Given the description of an element on the screen output the (x, y) to click on. 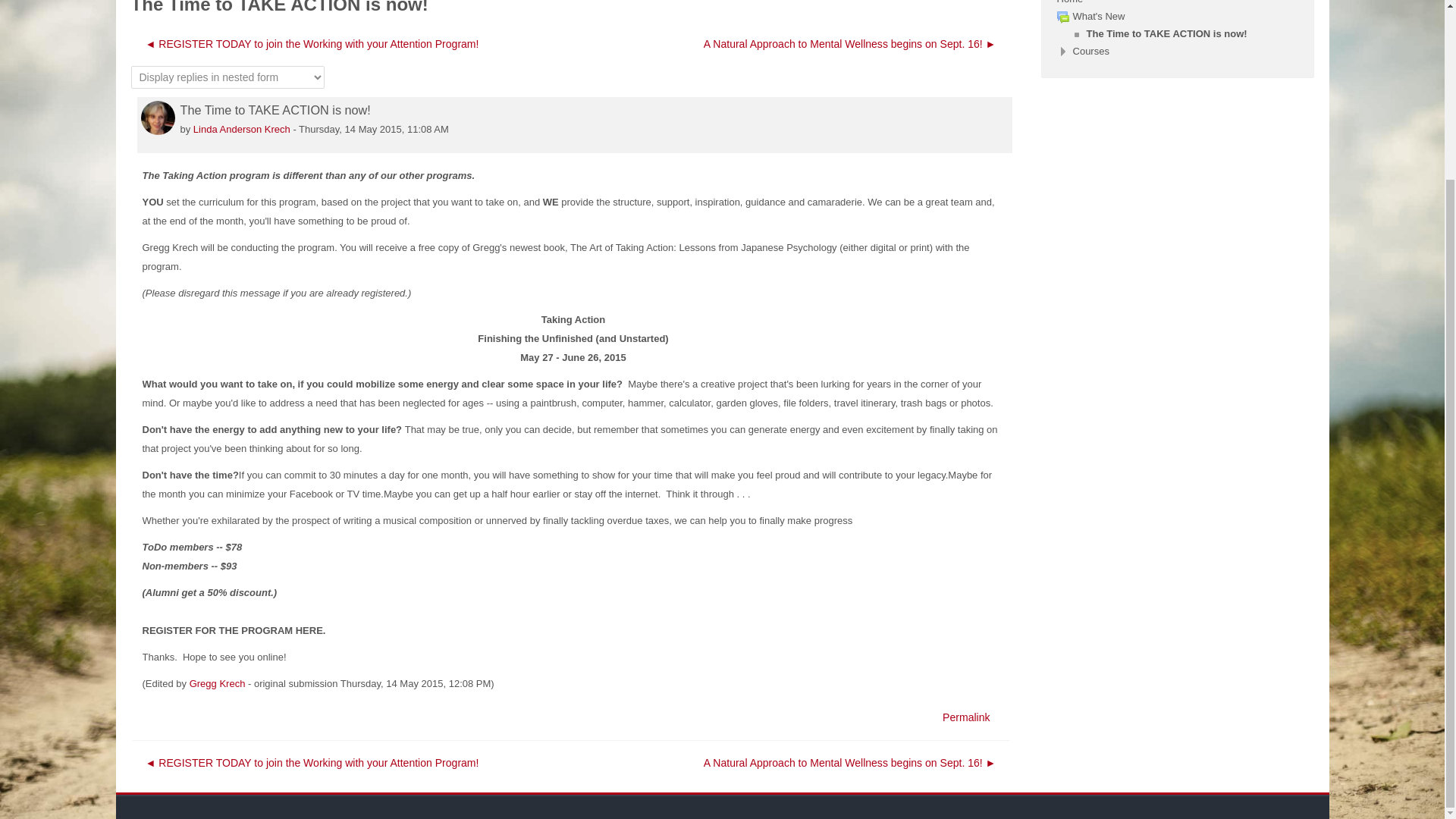
Linda Anderson Krech (241, 129)
Forum (1062, 17)
Home (1070, 2)
What's New (1091, 16)
Courses (1091, 50)
Gregg Krech (217, 683)
Permanent link to this post (966, 717)
Forum (1091, 16)
Picture of Linda Anderson Krech (157, 117)
The Time to TAKE ACTION is now! (1158, 33)
